Given the description of an element on the screen output the (x, y) to click on. 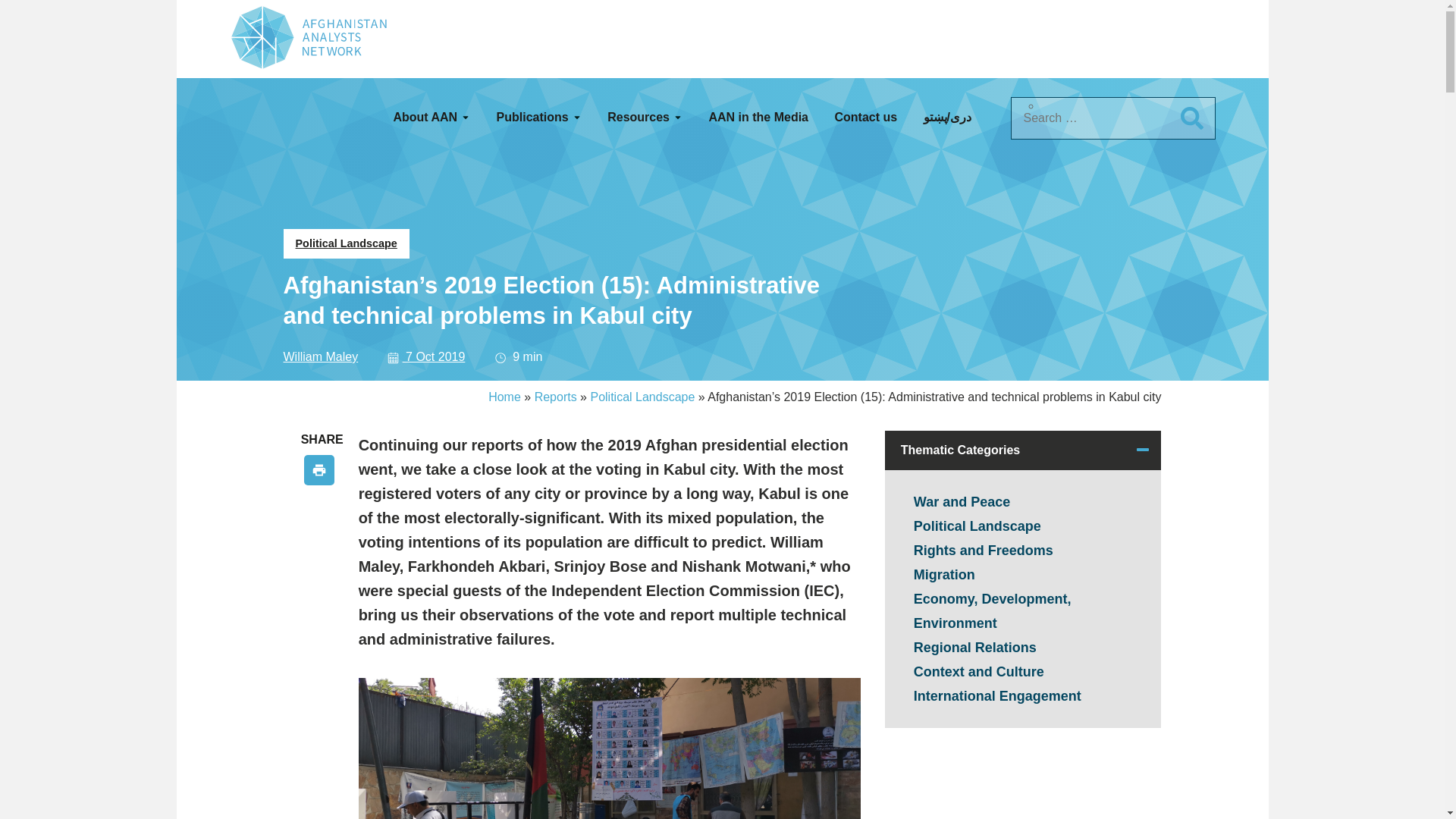
Publications (538, 116)
Home (504, 396)
7 Oct 2019 (413, 356)
Political Landscape (641, 396)
Reports (555, 396)
Resources (644, 116)
7 Oct 2019 (413, 356)
AAN in the Media (758, 116)
Political Landscape (346, 243)
About AAN (431, 116)
Contact us (865, 116)
William Maley (320, 356)
